Given the description of an element on the screen output the (x, y) to click on. 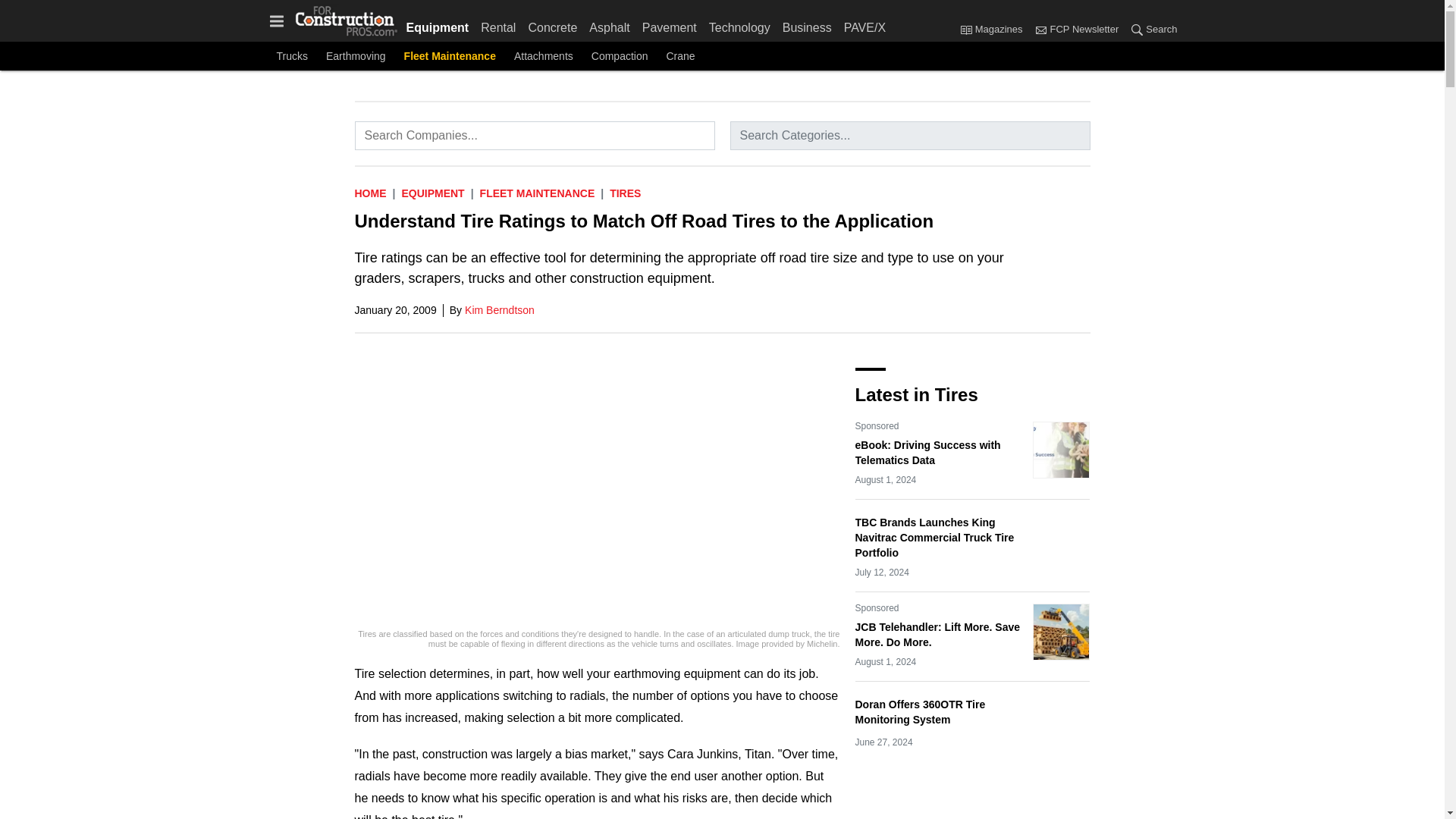
Technology (739, 24)
Magazines (965, 29)
Attachments (543, 55)
Pavement (669, 24)
Fleet Maintenance (450, 55)
Concrete (552, 24)
Search (1150, 29)
Earthmoving (355, 55)
Equipment (432, 193)
FCP Newsletter (1039, 29)
Search (1136, 29)
Sponsored (877, 426)
Equipment (441, 24)
Trucks (291, 55)
Magazines (994, 29)
